Given the description of an element on the screen output the (x, y) to click on. 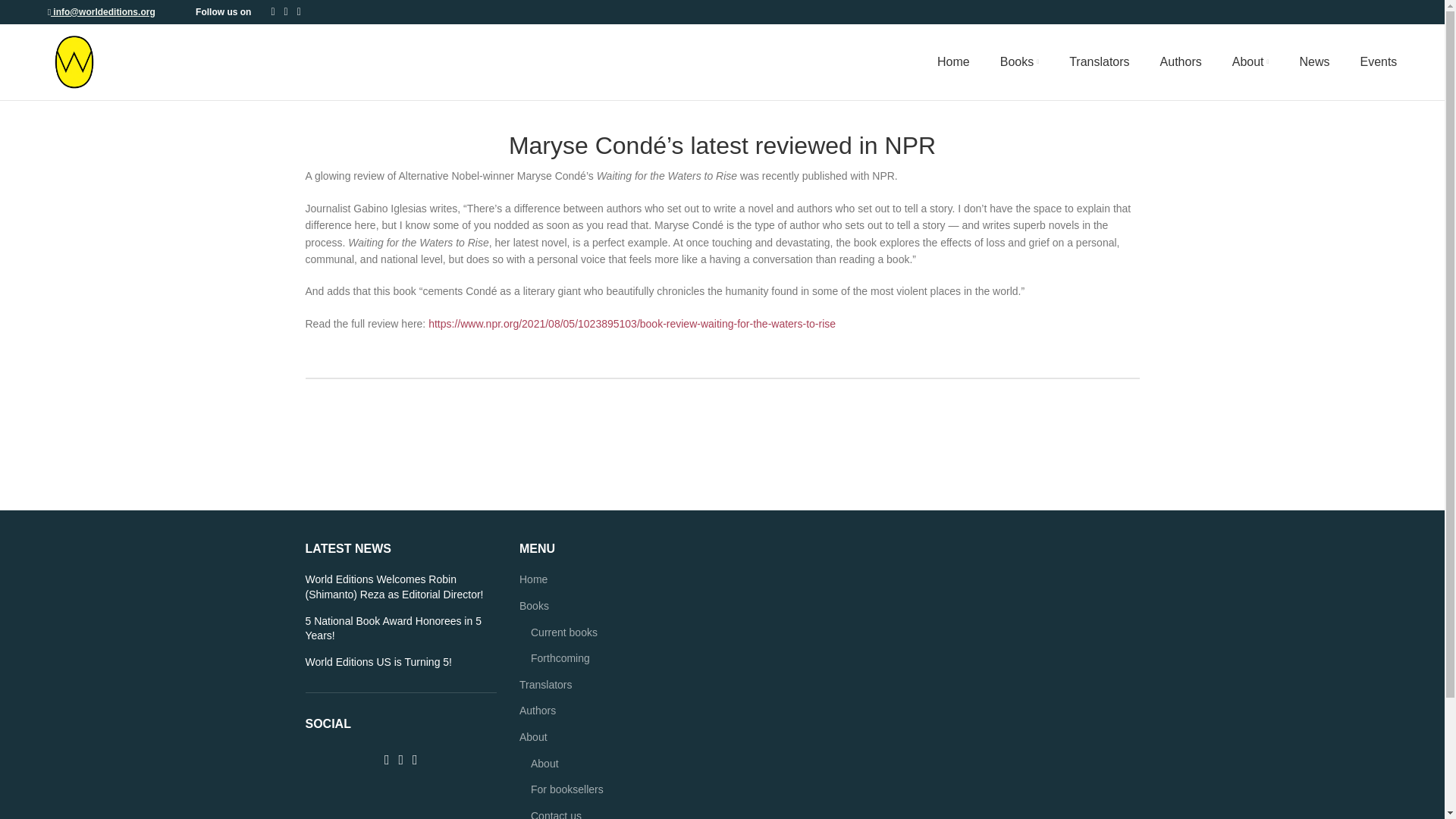
Current books (564, 632)
Authors (1181, 61)
About (533, 737)
For booksellers (568, 789)
Home (950, 61)
Books (534, 606)
Translators (1098, 61)
About (545, 764)
News (1313, 61)
Books (1019, 61)
